Given the description of an element on the screen output the (x, y) to click on. 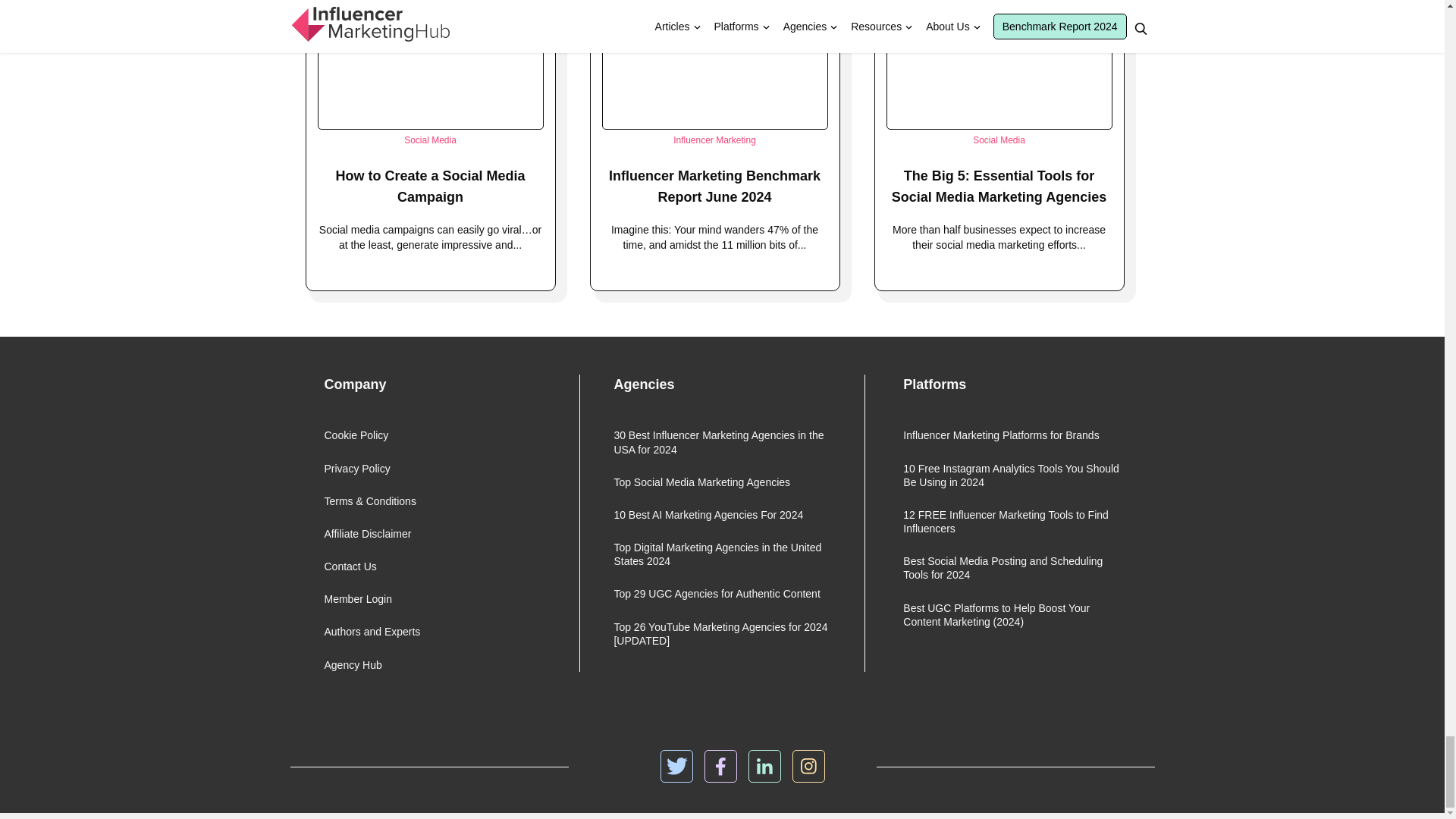
How to Create a Social Media Campaign (429, 186)
Influencer Marketing Benchmark Report June 2024 (714, 186)
